Given the description of an element on the screen output the (x, y) to click on. 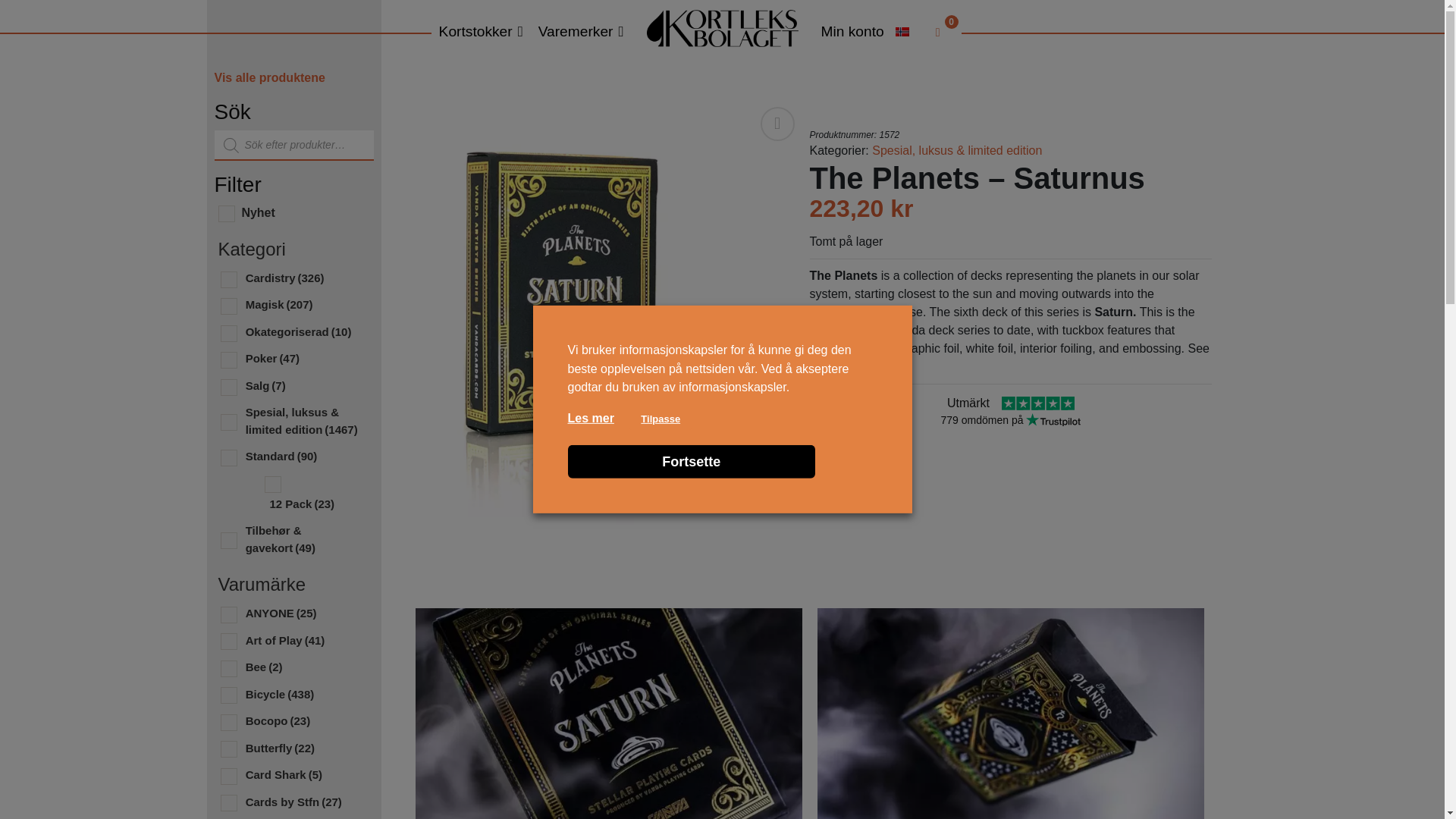
Kortleksbolaget (721, 27)
Vis alle produktene (269, 77)
Varemerker (581, 31)
Varemerker (581, 31)
Min konto (851, 31)
Kortstokker (480, 31)
Kortstokker (480, 31)
